Given the description of an element on the screen output the (x, y) to click on. 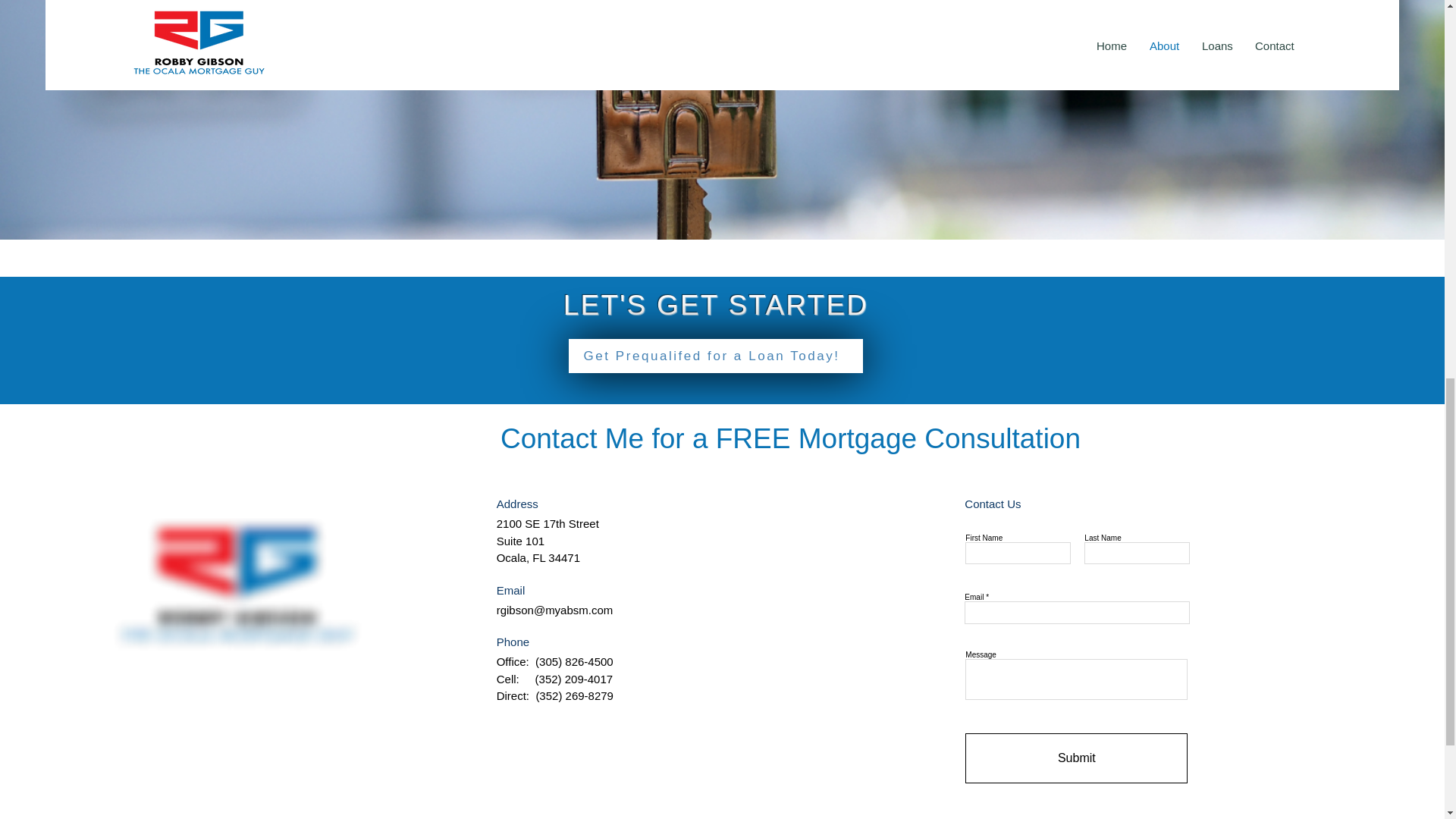
Get Prequalifed for a Loan Today! (716, 356)
ocalamortgageguy.png (236, 584)
Submit (1076, 757)
